Given the description of an element on the screen output the (x, y) to click on. 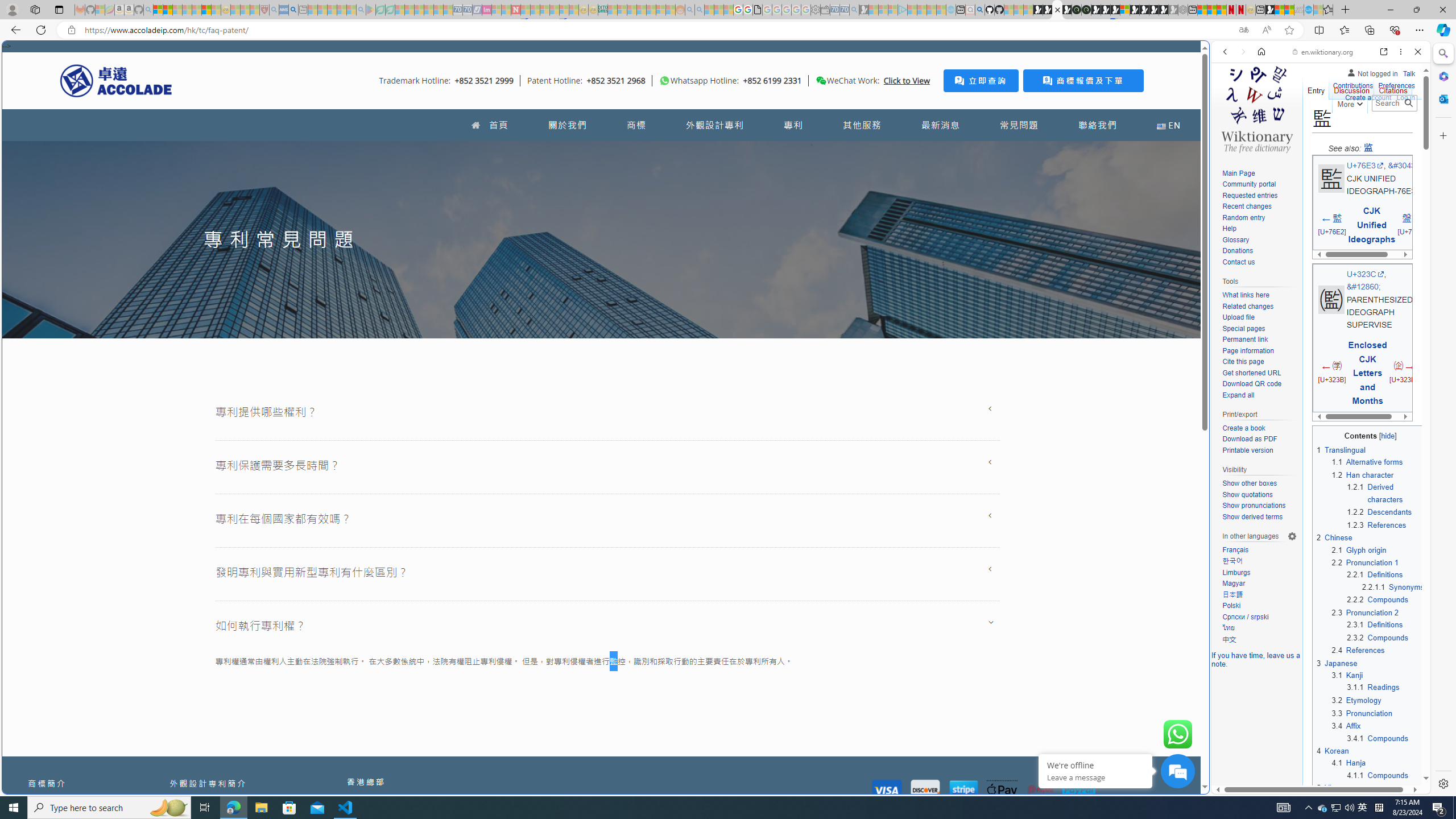
Bluey: Let's Play! - Apps on Google Play - Sleeping (370, 9)
utah sues federal government - Search (922, 389)
More (1349, 101)
Show quotations (1246, 494)
Magyar (1232, 583)
2.2 Pronunciation 1 (1364, 562)
